Given the description of an element on the screen output the (x, y) to click on. 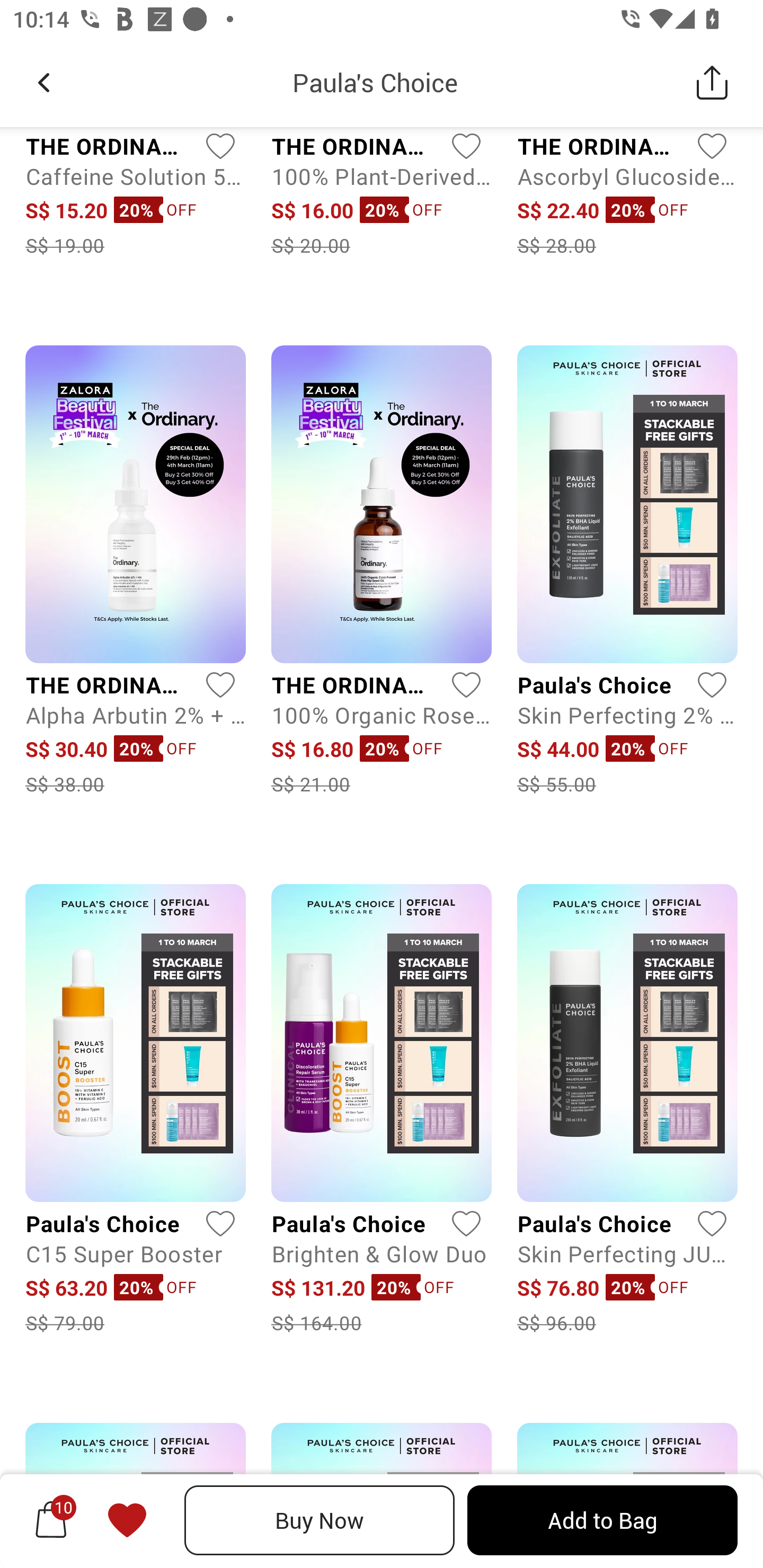
Paula's Choice (375, 82)
Share this Product (711, 82)
Campaign banner (135, 1495)
Campaign banner (381, 1495)
Campaign banner (627, 1495)
Buy Now (319, 1519)
Add to Bag (601, 1519)
10 (50, 1520)
